Given the description of an element on the screen output the (x, y) to click on. 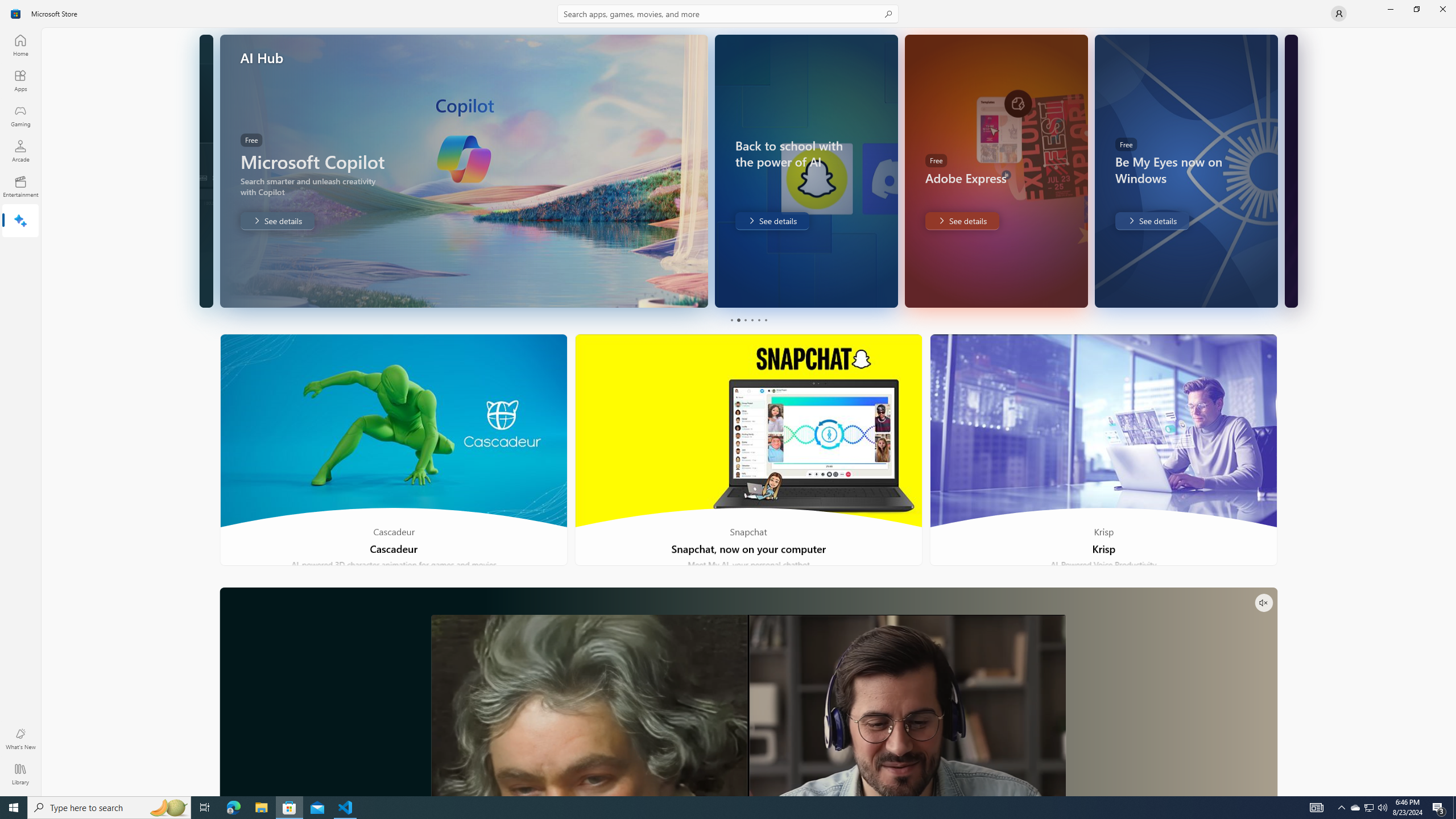
Page 3 (744, 319)
Page 1 (731, 319)
AutomationID: Image (1290, 170)
Krisp (1102, 449)
Page 6 (764, 319)
AutomationID: PosterImage (747, 705)
Search (727, 13)
